Given the description of an element on the screen output the (x, y) to click on. 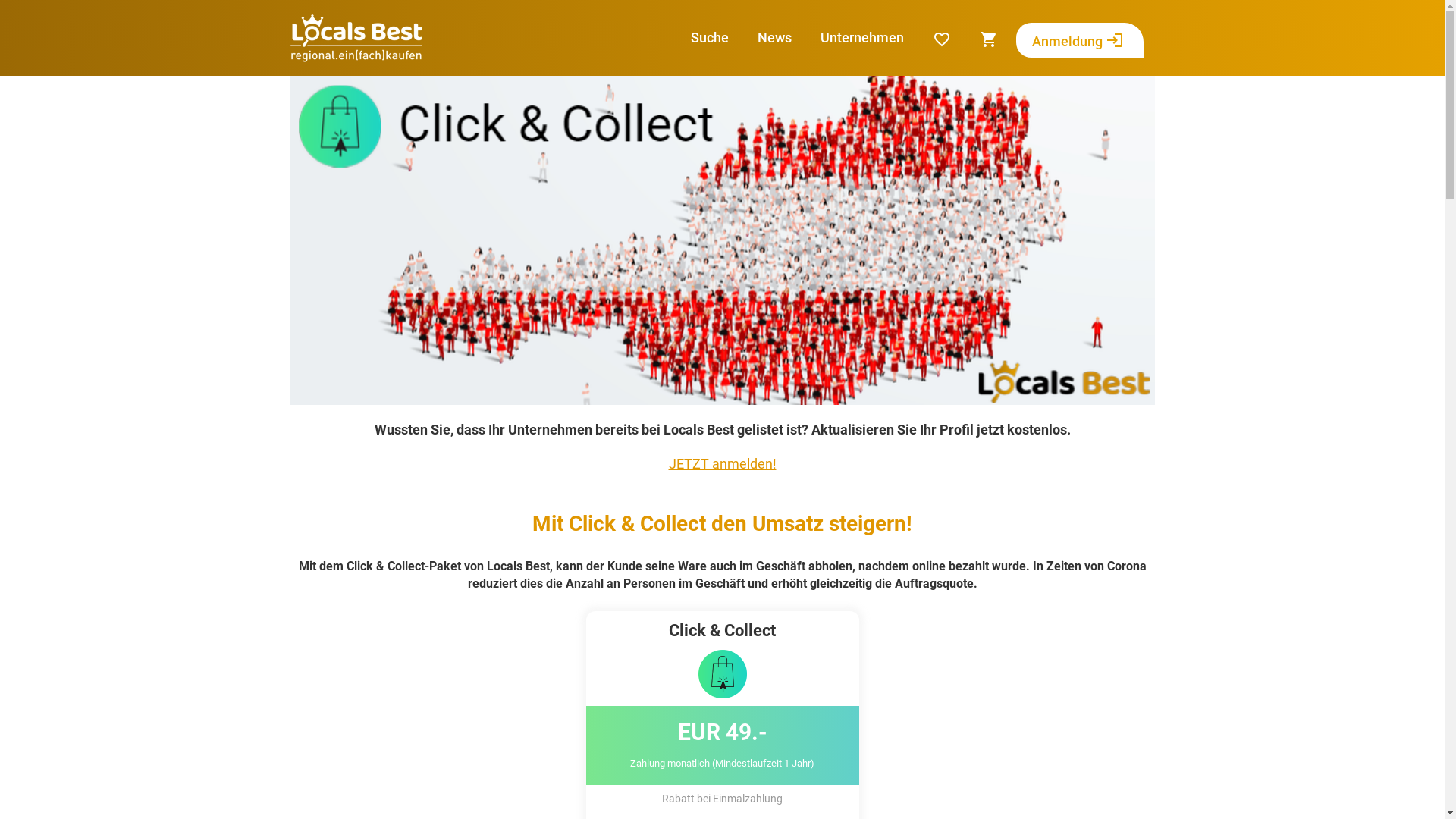
Anmeldung login Element type: text (1081, 40)
favorite_border Element type: text (945, 39)
News Element type: text (777, 37)
JETZT anmelden! Element type: text (722, 463)
Suche Element type: text (712, 37)
Unternehmen Element type: text (865, 37)
shopping_cart Element type: text (992, 39)
